Given the description of an element on the screen output the (x, y) to click on. 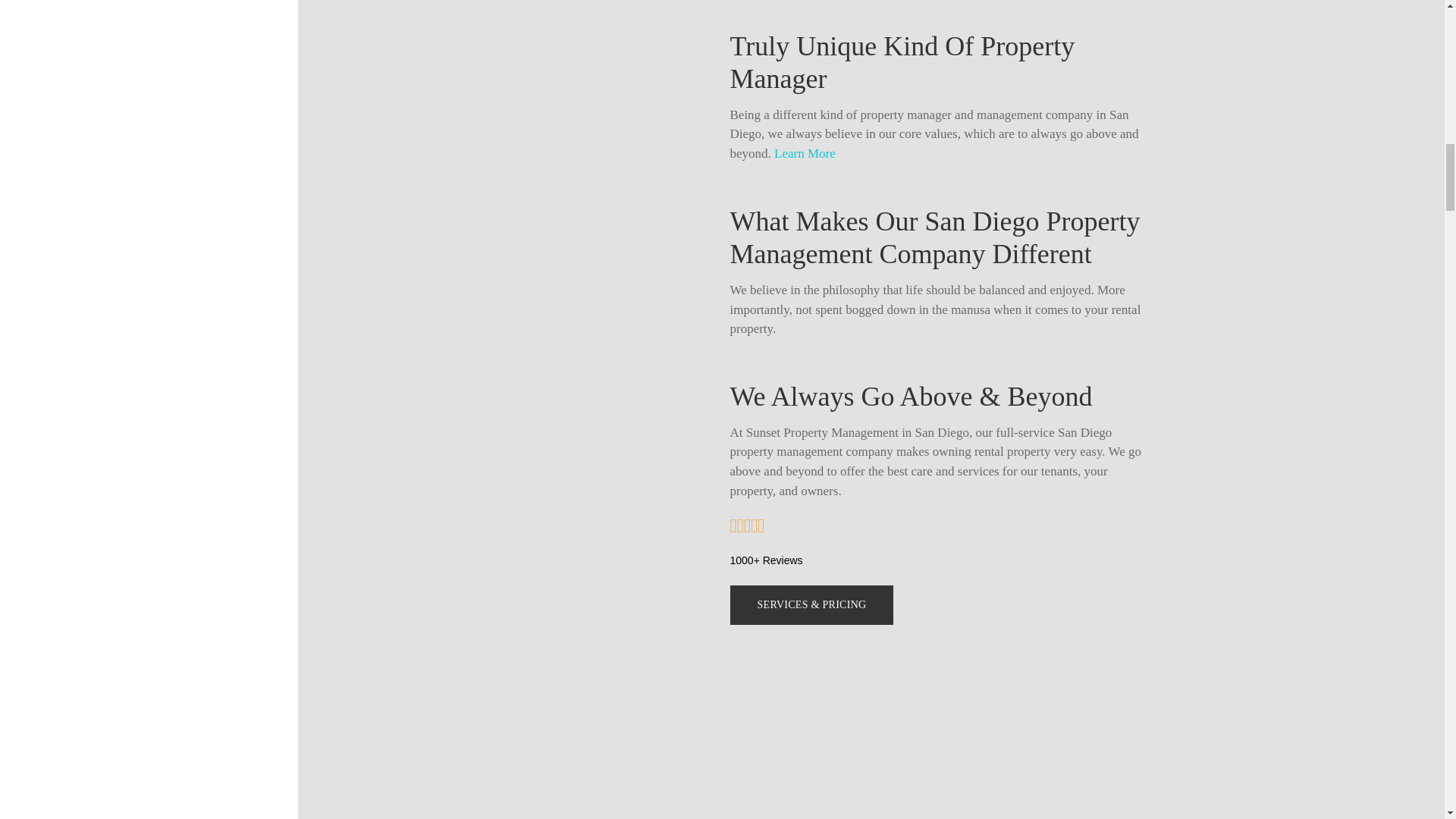
Learn More (804, 153)
